Given the description of an element on the screen output the (x, y) to click on. 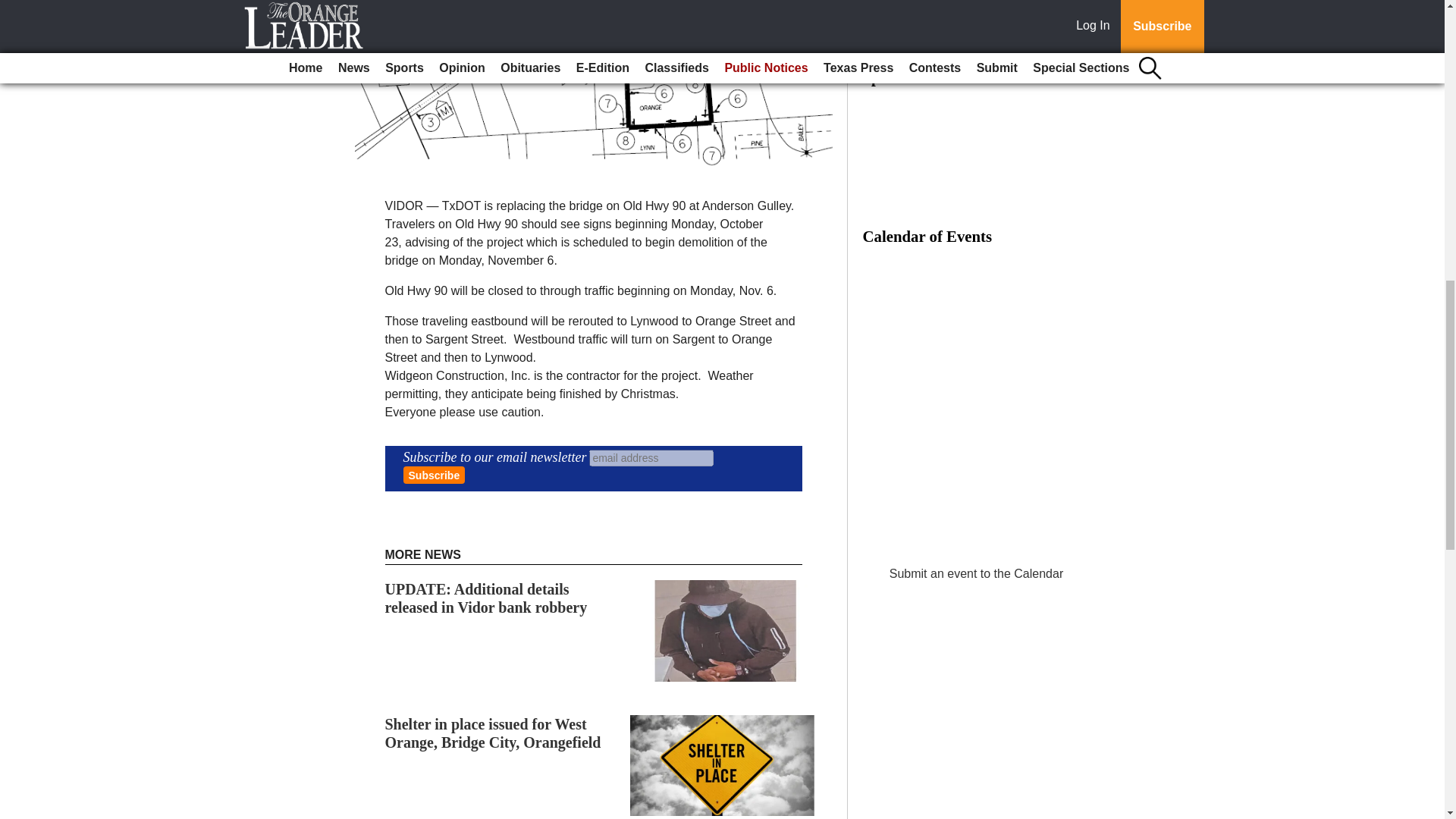
UPDATE: Additional details released in Vidor bank robbery (486, 597)
Subscribe (434, 475)
UPDATE: Additional details released in Vidor bank robbery (486, 597)
Subscribe (434, 475)
